Given the description of an element on the screen output the (x, y) to click on. 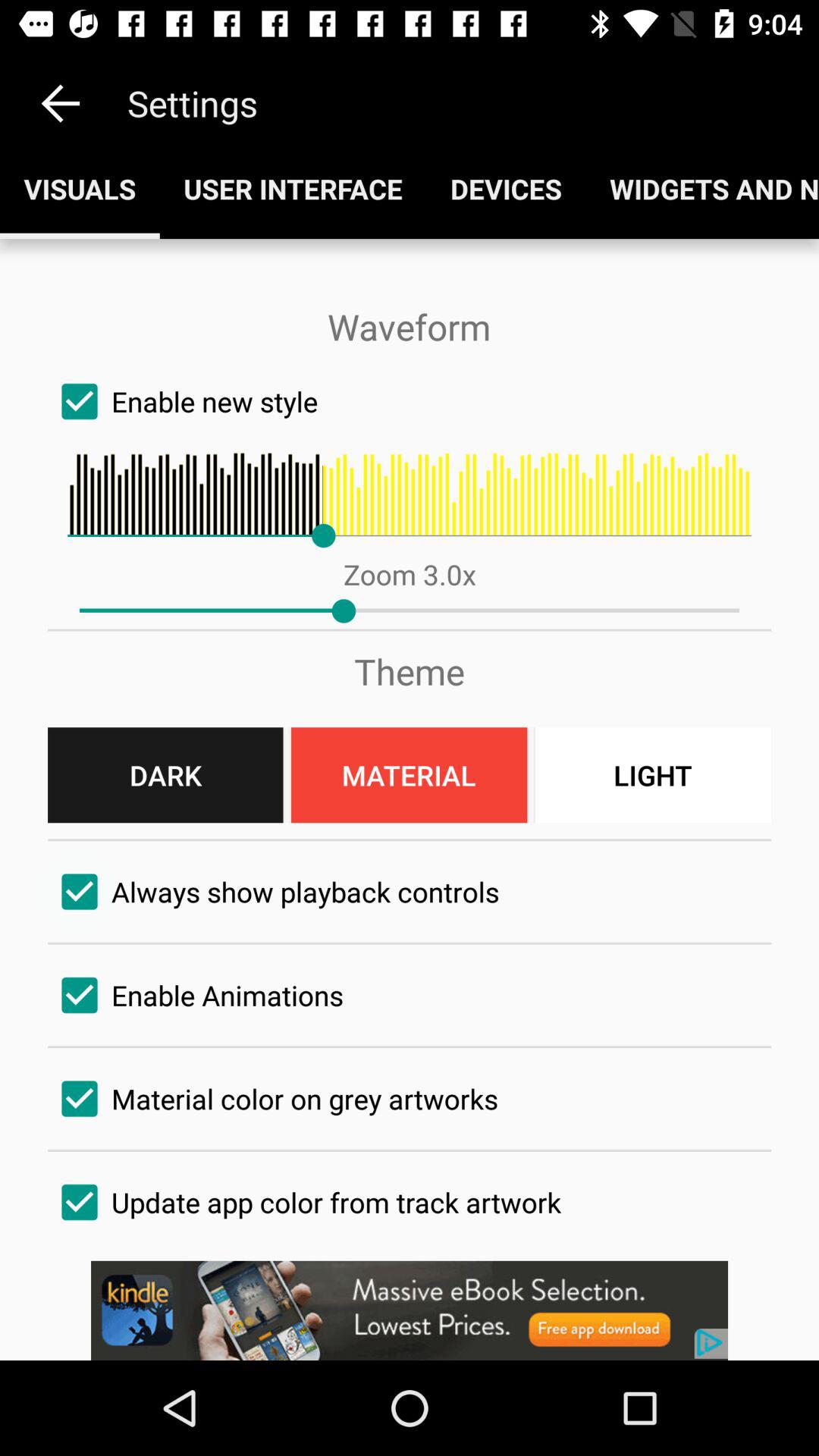
advertisements banner (409, 1310)
